Given the description of an element on the screen output the (x, y) to click on. 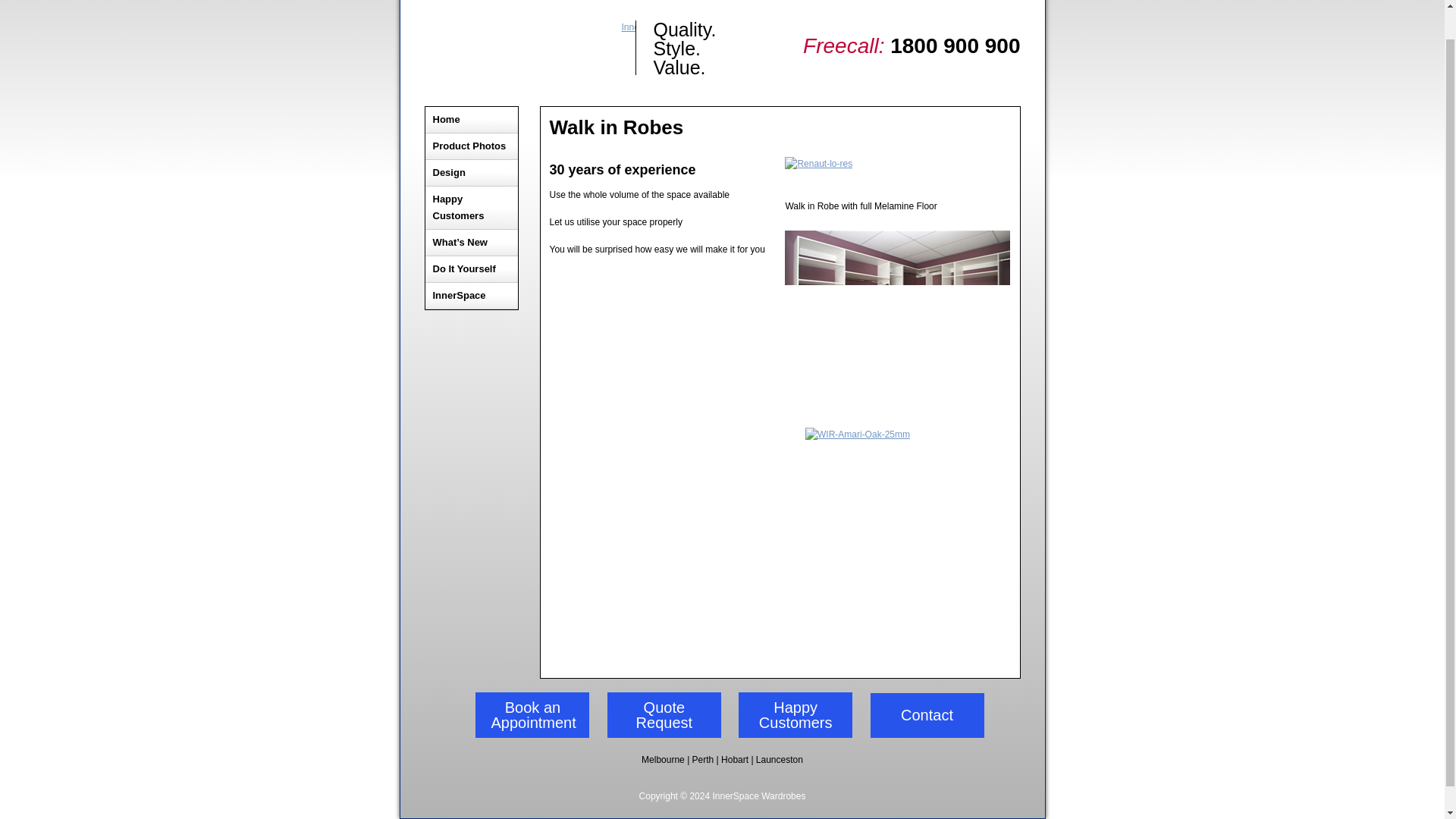
InnerSpace Wardrobes (530, 47)
Design (471, 172)
Happy Customers (471, 208)
Happy Customers (794, 714)
Product Photos (471, 146)
Home (471, 120)
Quote Request (663, 714)
Book an Appointment (532, 714)
Contact (927, 714)
Do It Yourself (471, 269)
InnerSpace (471, 295)
